Given the description of an element on the screen output the (x, y) to click on. 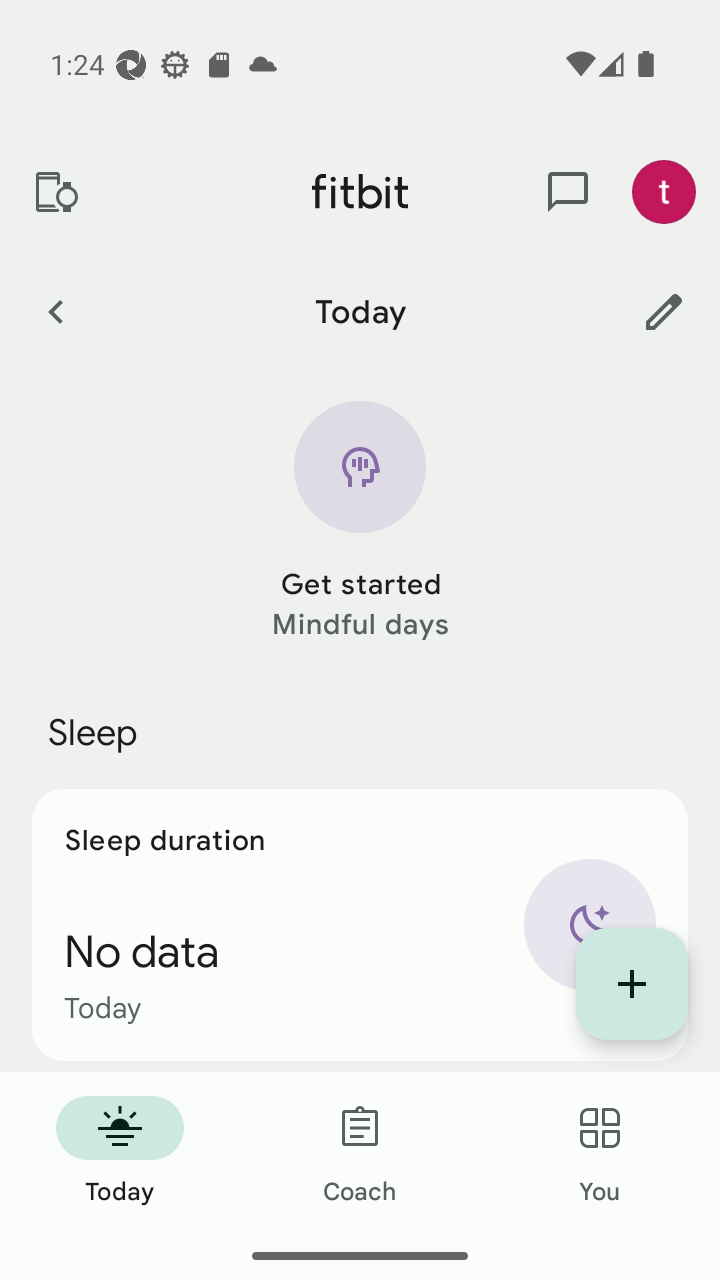
Devices and apps (55, 191)
messages and notifications (567, 191)
Previous Day (55, 311)
Customize (664, 311)
Mindfulness icon Get started Mindful days (360, 522)
Sleep duration No data Today Sleep static arc (359, 924)
Display list of quick log entries (632, 983)
Coach (359, 1151)
You (600, 1151)
